Given the description of an element on the screen output the (x, y) to click on. 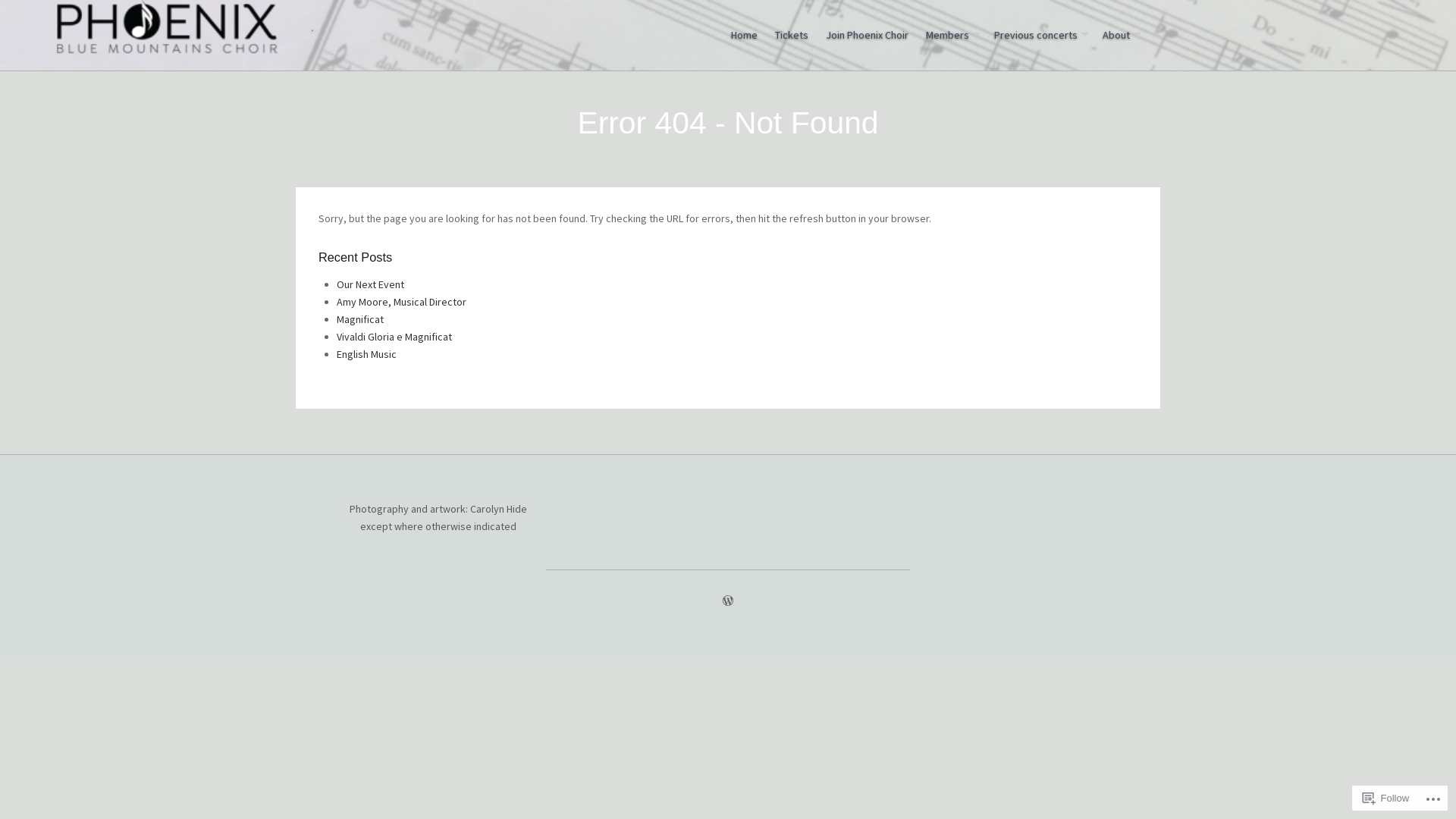
About Element type: text (1120, 34)
Join Phoenix Choir Element type: text (867, 34)
Home Element type: text (744, 34)
Amy Moore, Musical Director Element type: text (401, 301)
Vivaldi Gloria e Magnificat Element type: text (393, 336)
Create a website or blog at WordPress.com Element type: text (727, 601)
English Music Element type: text (366, 353)
Previous concerts Element type: text (1039, 34)
Tickets Element type: text (791, 34)
Follow Element type: text (1385, 797)
Members Element type: text (951, 34)
Our Next Event Element type: text (370, 284)
Magnificat Element type: text (359, 319)
